Given the description of an element on the screen output the (x, y) to click on. 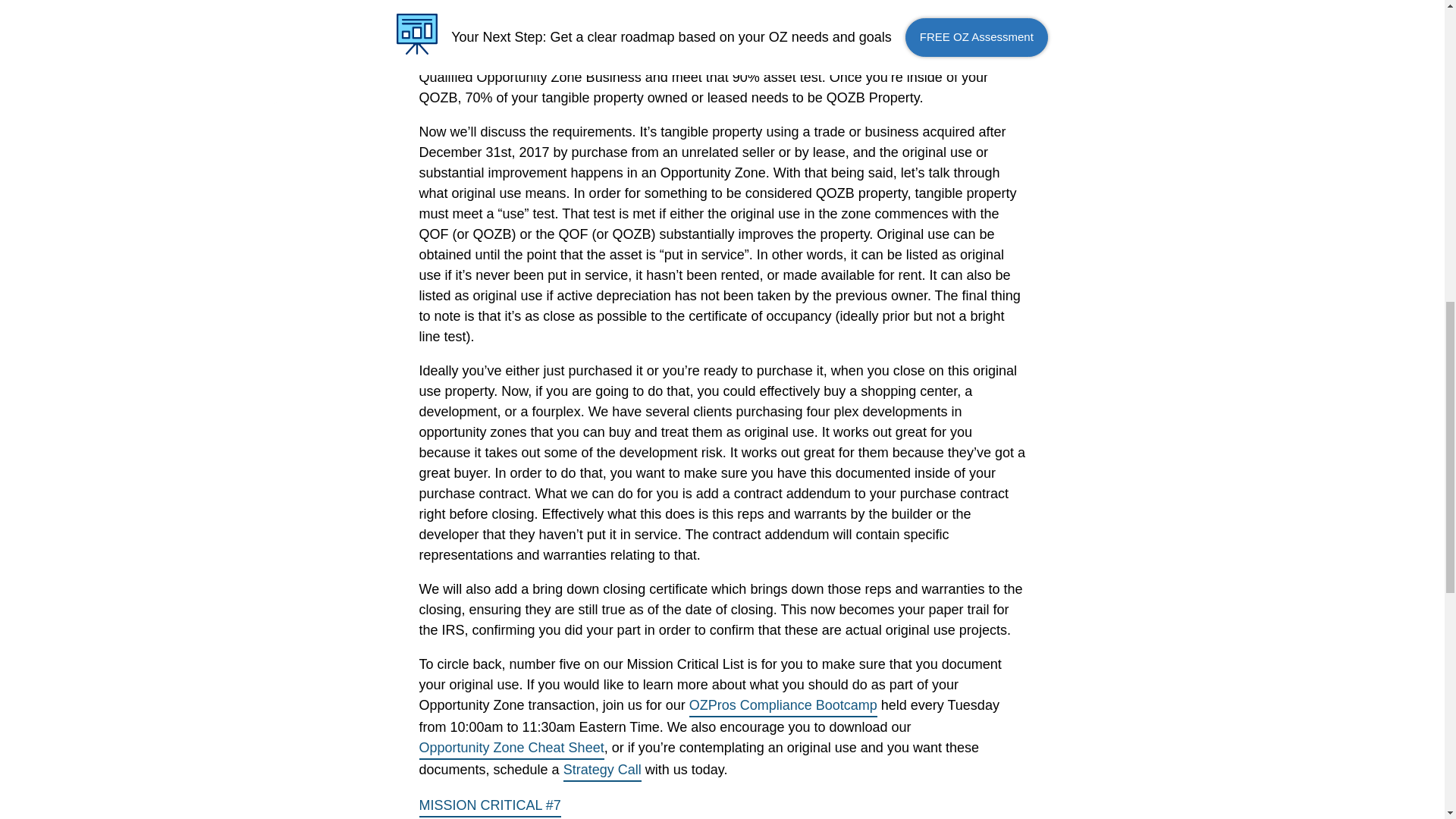
Strategy Call (602, 771)
Opportunity Zone Cheat Sheet (511, 748)
OZPros Compliance Bootcamp (782, 706)
